Given the description of an element on the screen output the (x, y) to click on. 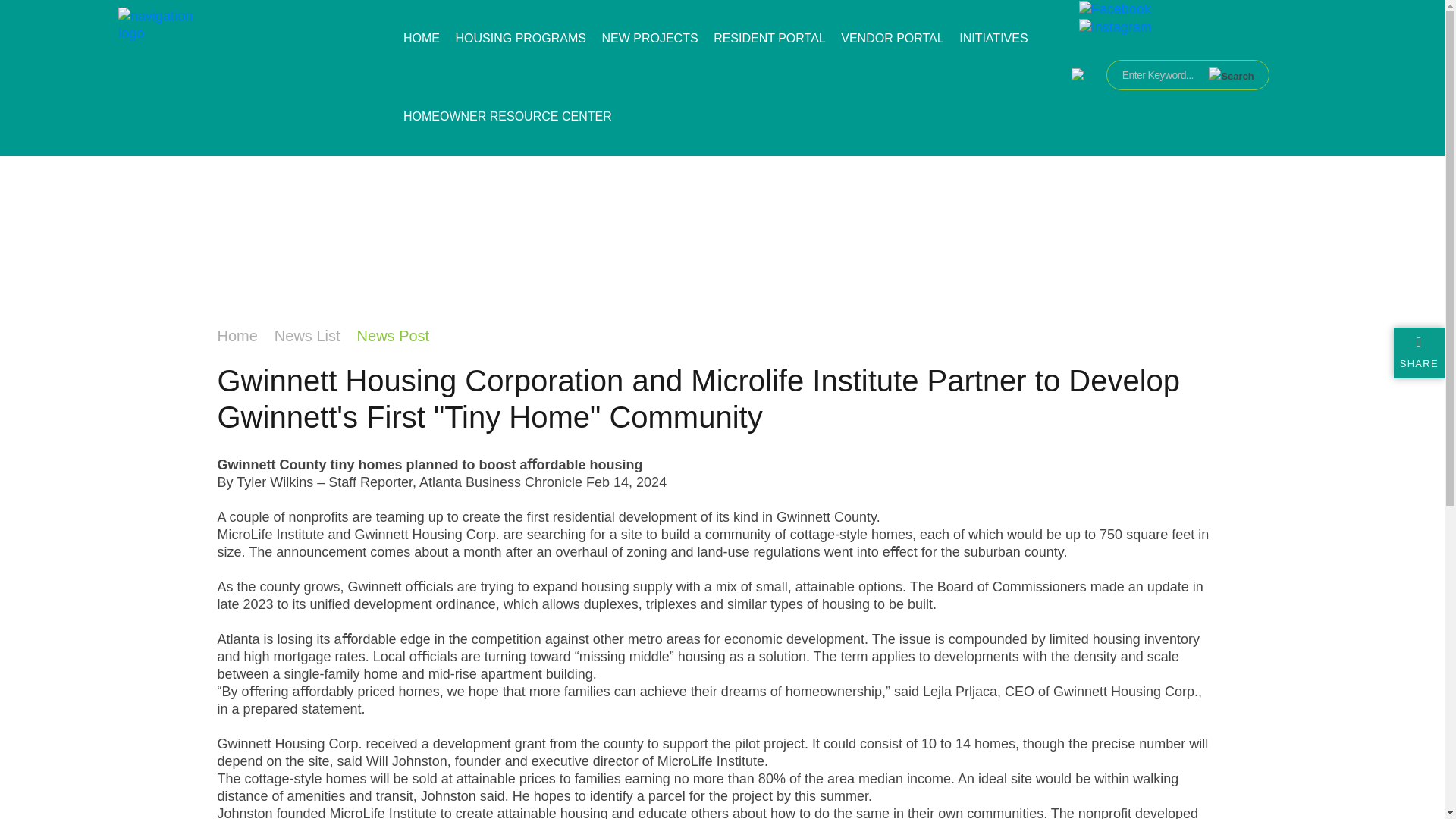
NEW PROJECTS (651, 38)
VENDOR PORTAL (894, 38)
INITIATIVES (995, 38)
RESIDENT PORTAL (771, 38)
HOUSING PROGRAMS (522, 38)
